Given the description of an element on the screen output the (x, y) to click on. 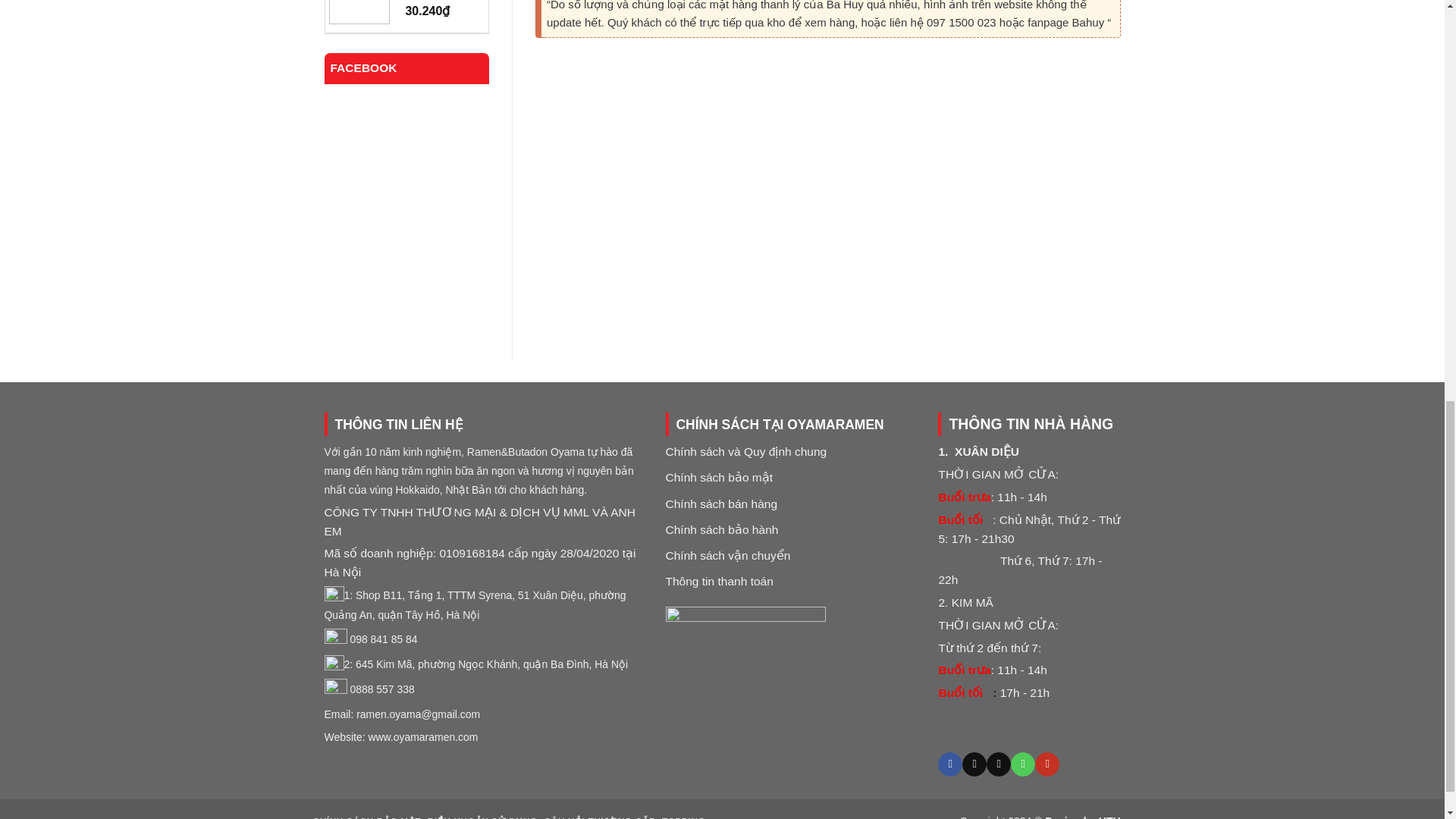
Follow on TikTok (974, 764)
Send us an email (998, 764)
Call us (1022, 764)
Coca Lite (437, 1)
Follow on Facebook (949, 764)
